Given the description of an element on the screen output the (x, y) to click on. 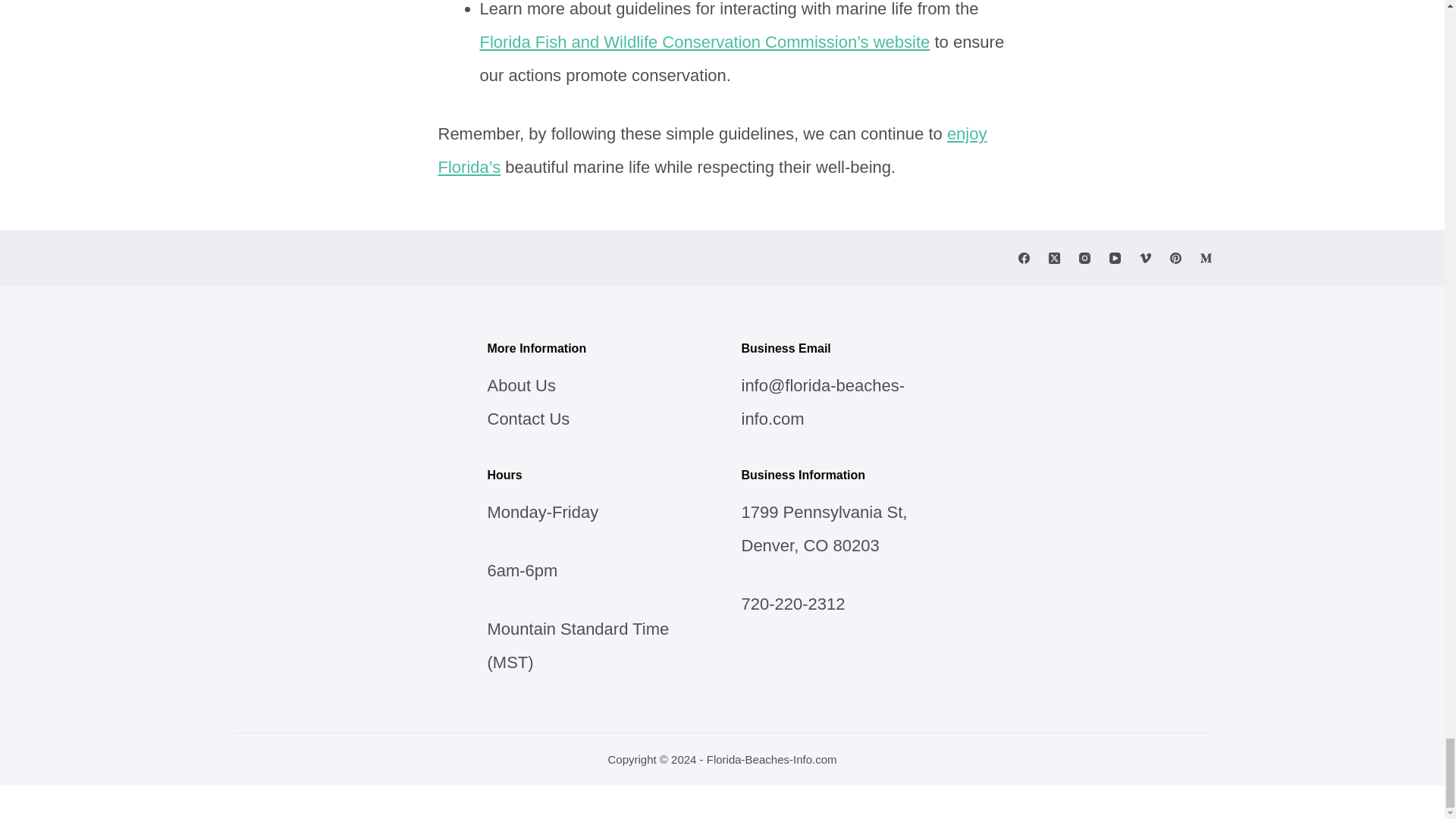
Contact Us (527, 418)
About Us (521, 384)
